Given the description of an element on the screen output the (x, y) to click on. 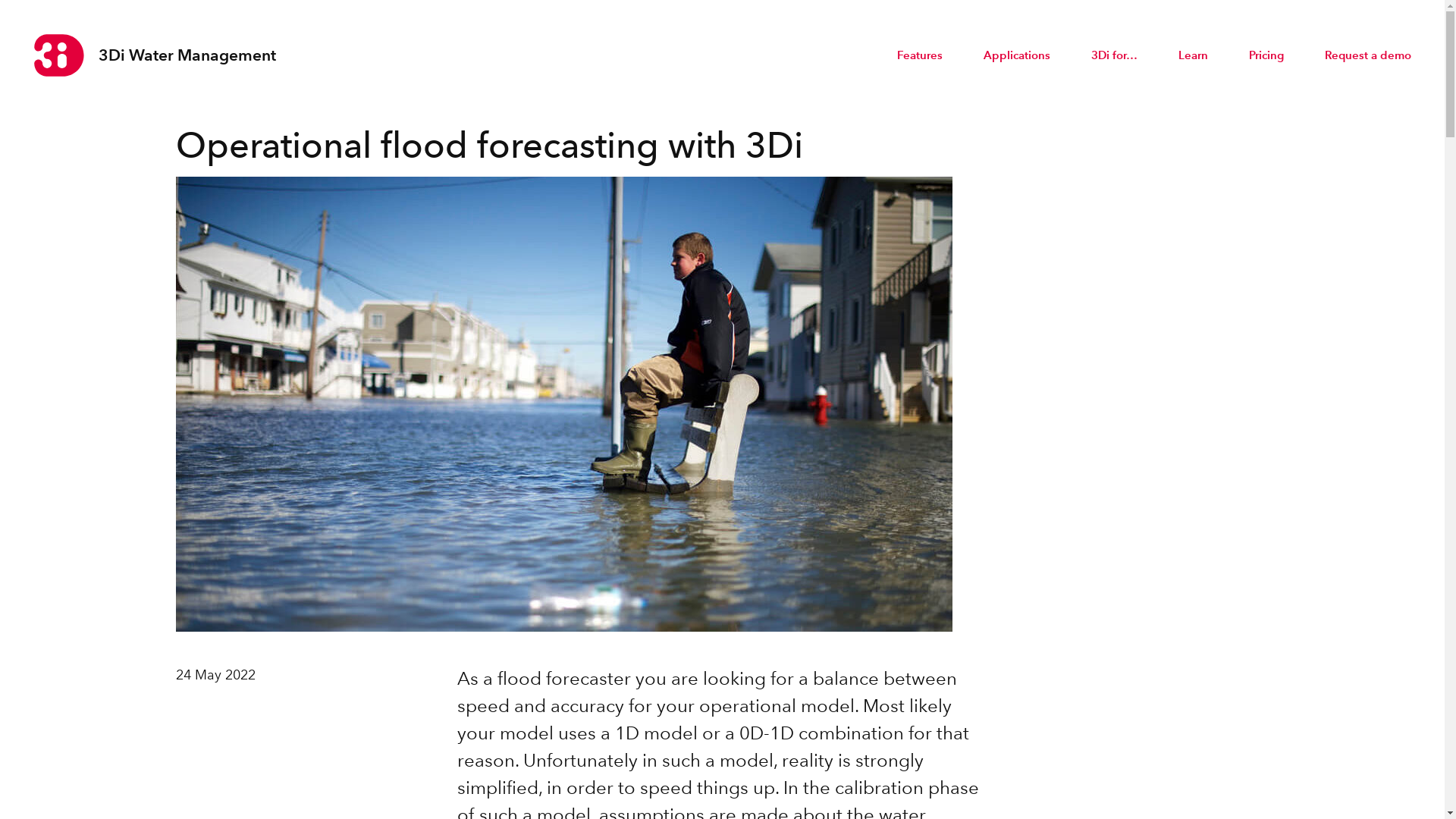
Request a demo Element type: text (1367, 55)
3Di Water Management Element type: text (154, 55)
Applications Element type: text (1016, 55)
Pricing Element type: text (1265, 55)
Features Element type: text (919, 55)
